Given the description of an element on the screen output the (x, y) to click on. 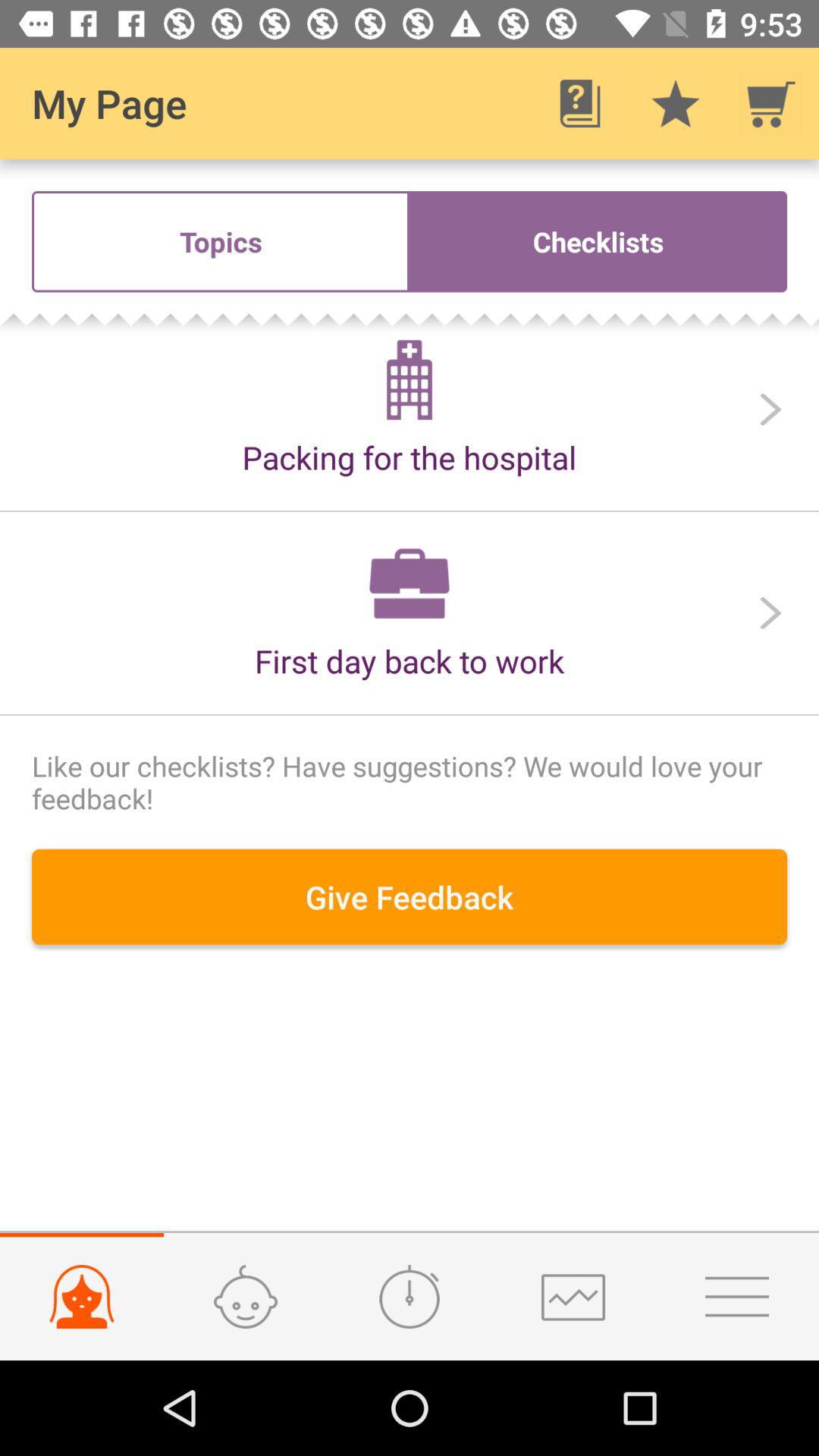
turn off the icon above checklists (579, 103)
